Given the description of an element on the screen output the (x, y) to click on. 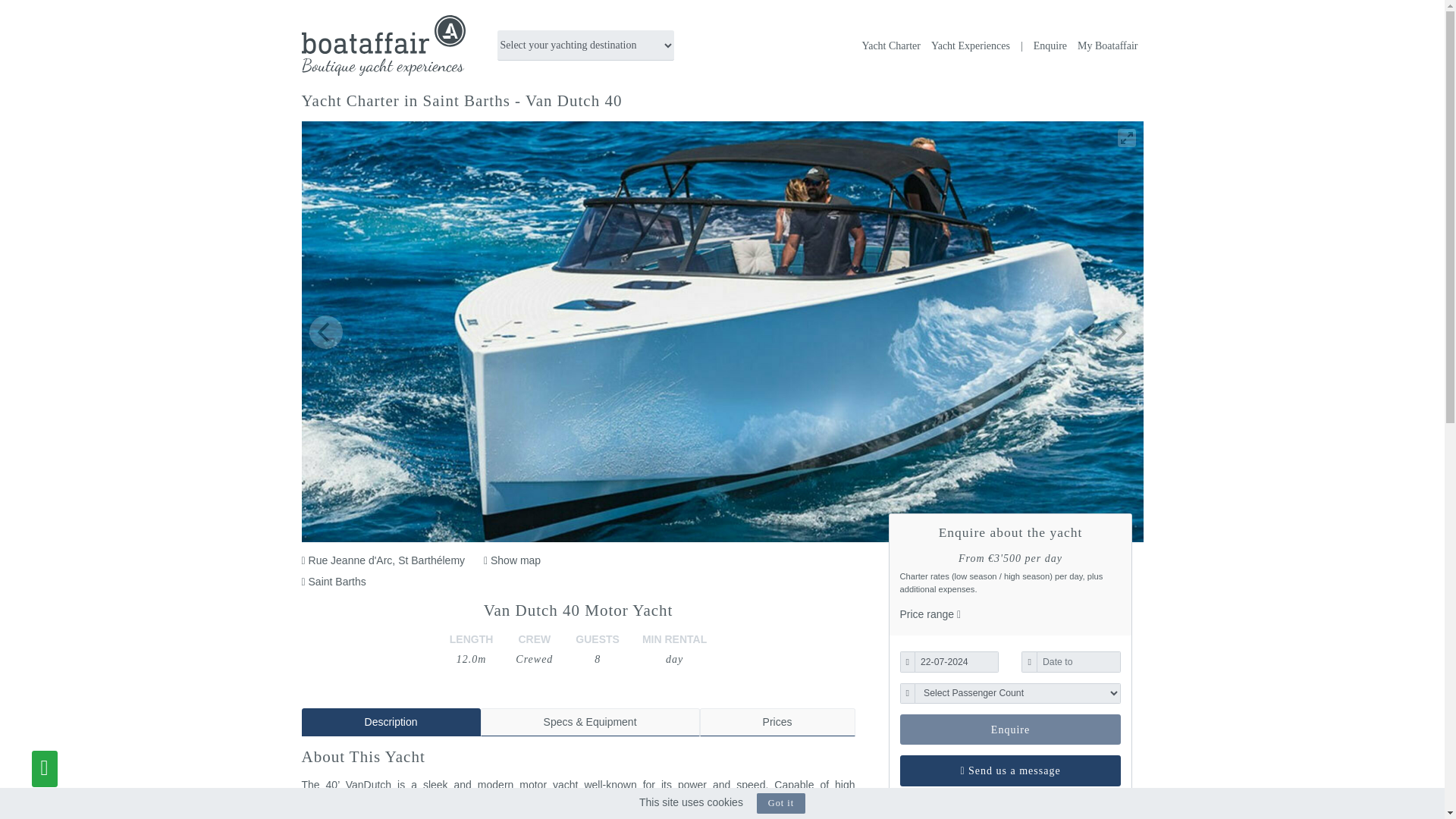
View full-screen (1126, 137)
Saint Barths (333, 581)
22-07-2024 (956, 661)
Write us on Whatsapp (45, 769)
Enquire (1042, 45)
Yacht Experiences (970, 45)
Price range (929, 613)
Enquire (1010, 729)
My Boataffair (1106, 45)
Enquire (1010, 729)
Send us a message (1010, 770)
Yacht Charter (891, 45)
